Given the description of an element on the screen output the (x, y) to click on. 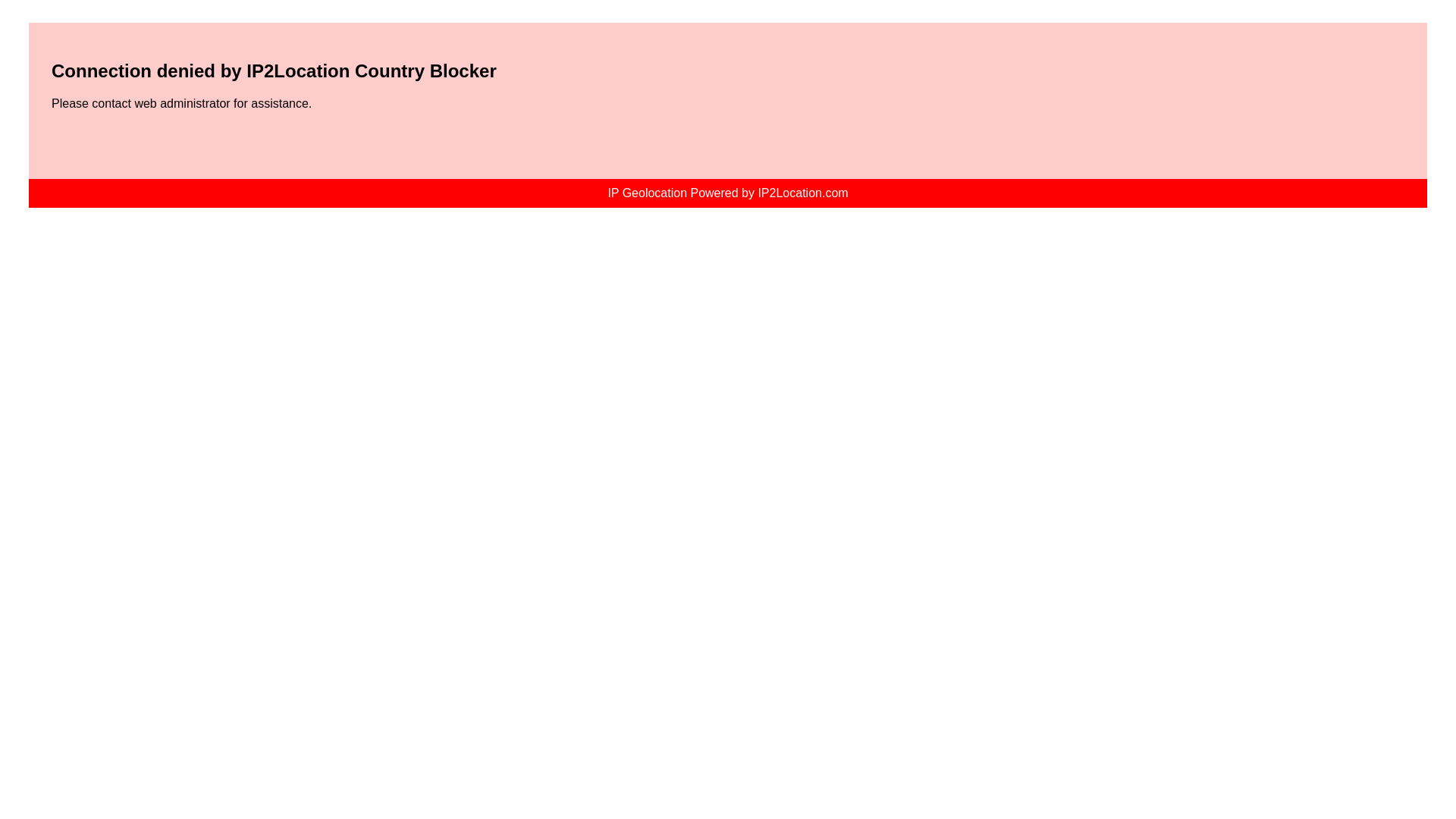
IP Geolocation Powered by IP2Location.com (727, 192)
